Given the description of an element on the screen output the (x, y) to click on. 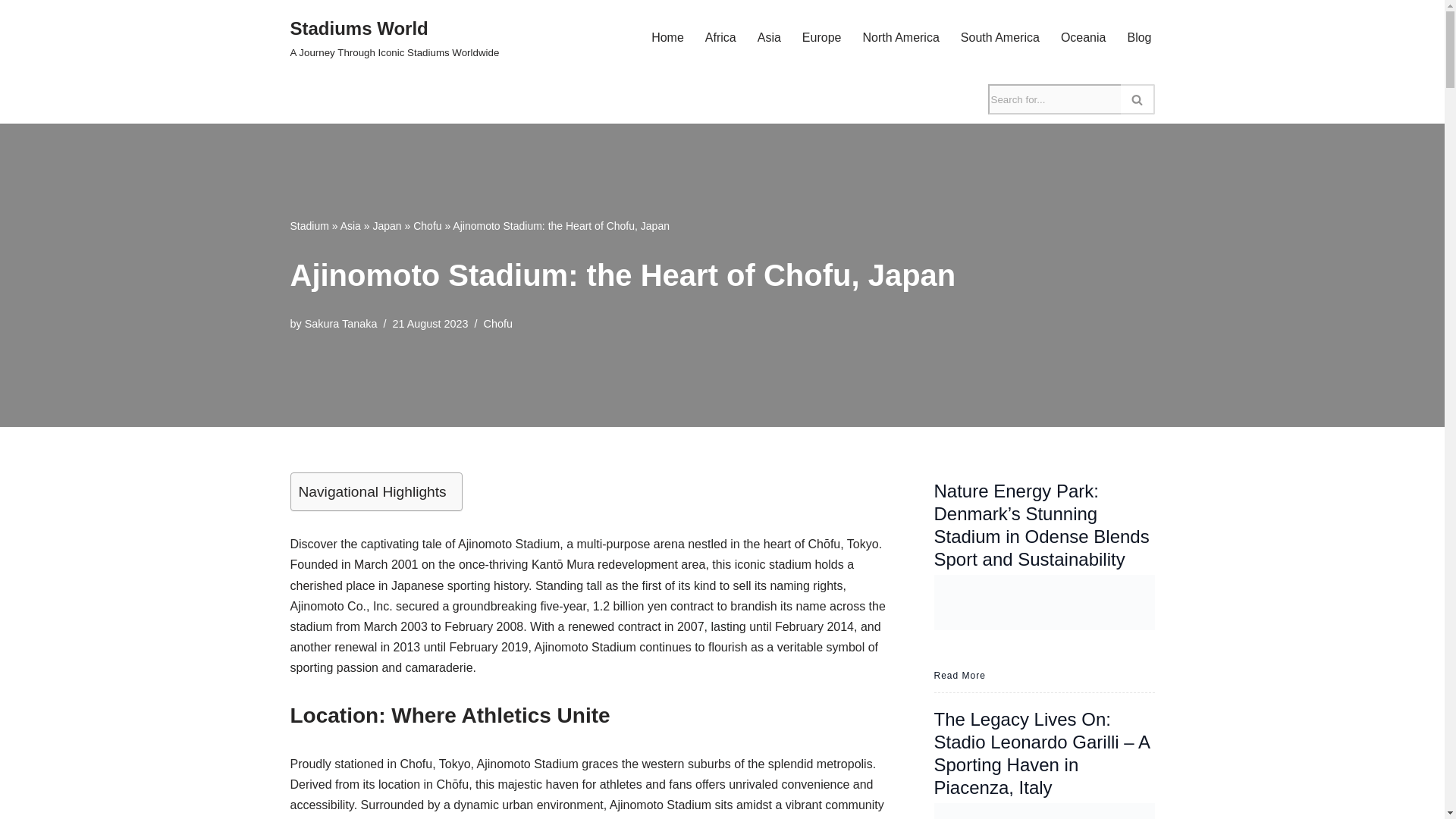
Africa (720, 37)
Skip to content (394, 37)
North America (11, 31)
South America (900, 37)
Asia (999, 37)
Blog (350, 225)
Home (1138, 37)
Chofu (667, 37)
Stadium (427, 225)
Posts by Sakura Tanaka (309, 225)
Japan (340, 323)
Europe (386, 225)
Chofu (821, 37)
Oceania (497, 323)
